Given the description of an element on the screen output the (x, y) to click on. 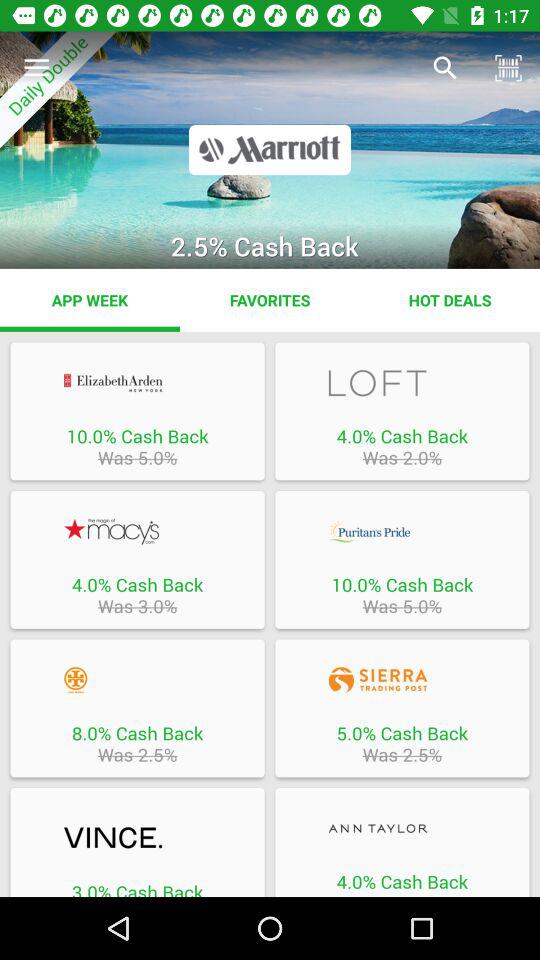
visit macy 's website (137, 531)
